Given the description of an element on the screen output the (x, y) to click on. 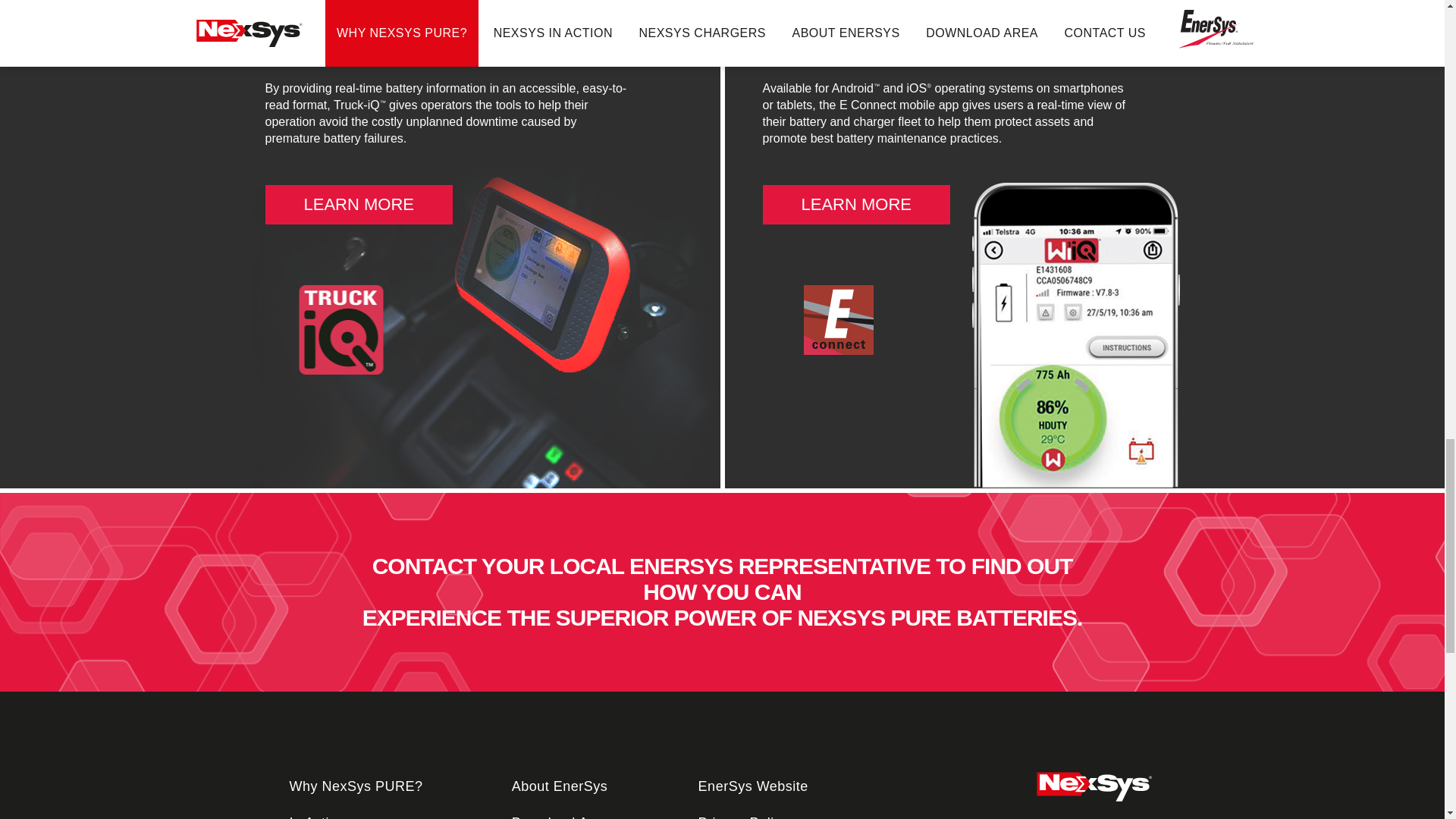
LEARN MORE (358, 204)
Privacy Policy (743, 816)
About EnerSys (560, 786)
Why NexSys PURE? (356, 786)
Download Area (561, 816)
EnerSys Website (753, 786)
LEARN MORE (856, 204)
In Action (317, 816)
